Given the description of an element on the screen output the (x, y) to click on. 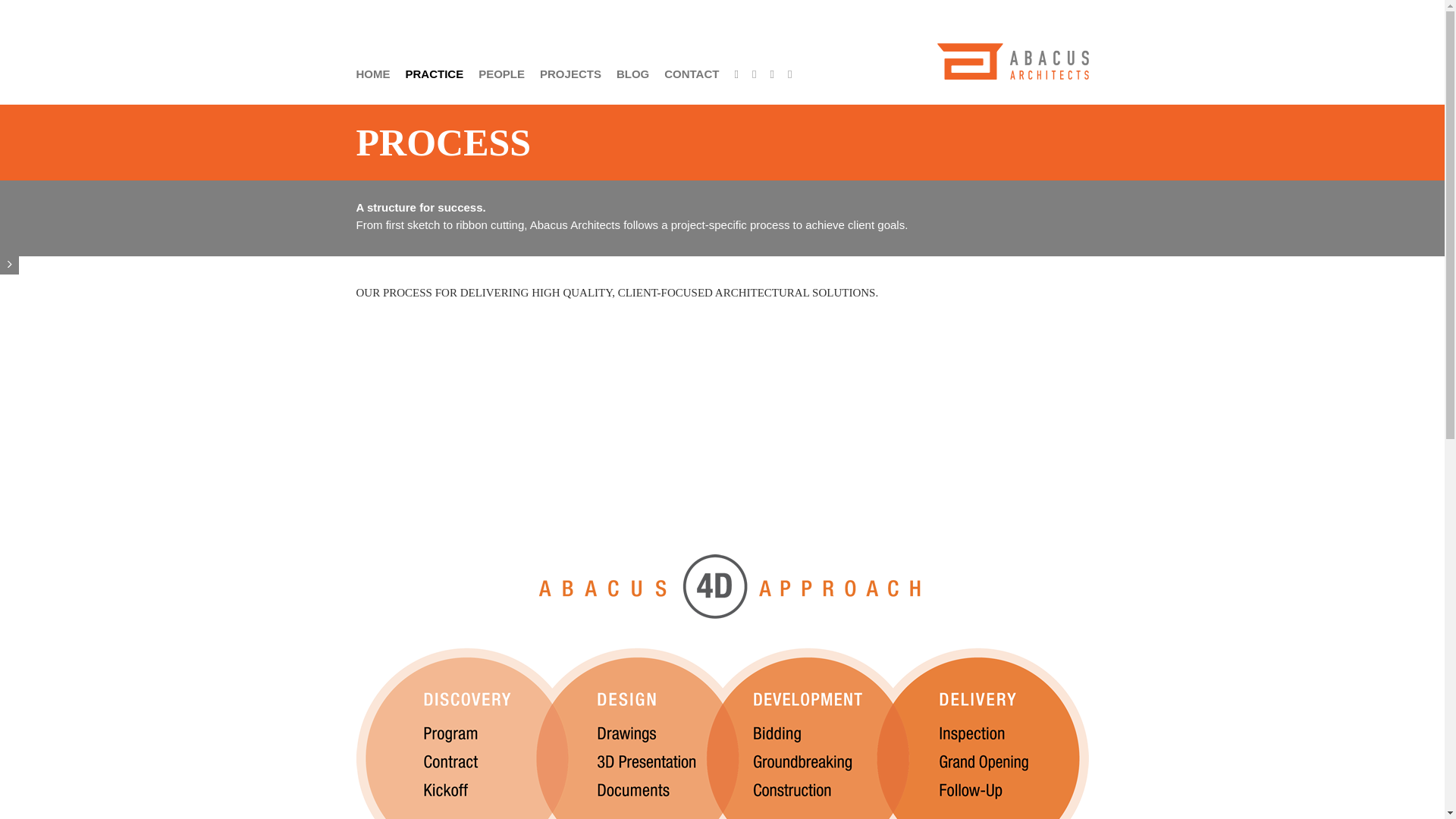
PROJECTS (570, 69)
PEOPLE (501, 69)
HOME (373, 69)
PRACTICE (433, 69)
